Given the description of an element on the screen output the (x, y) to click on. 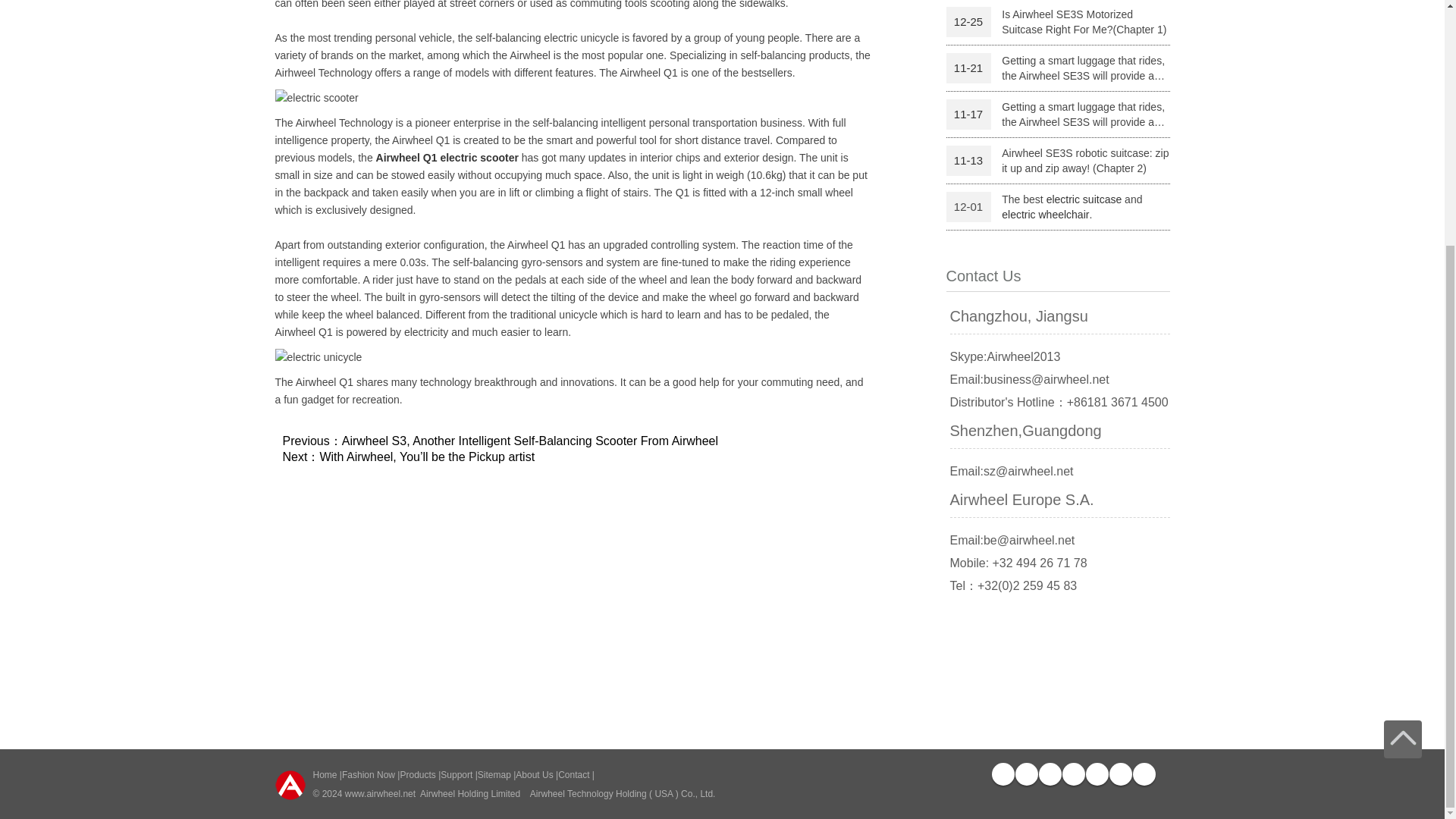
Youtube (1050, 773)
Skype (1119, 773)
Airwheel Store (1072, 773)
Twitter (1025, 773)
Facebook (1002, 773)
Global (1144, 773)
Instagram (1097, 773)
